Given the description of an element on the screen output the (x, y) to click on. 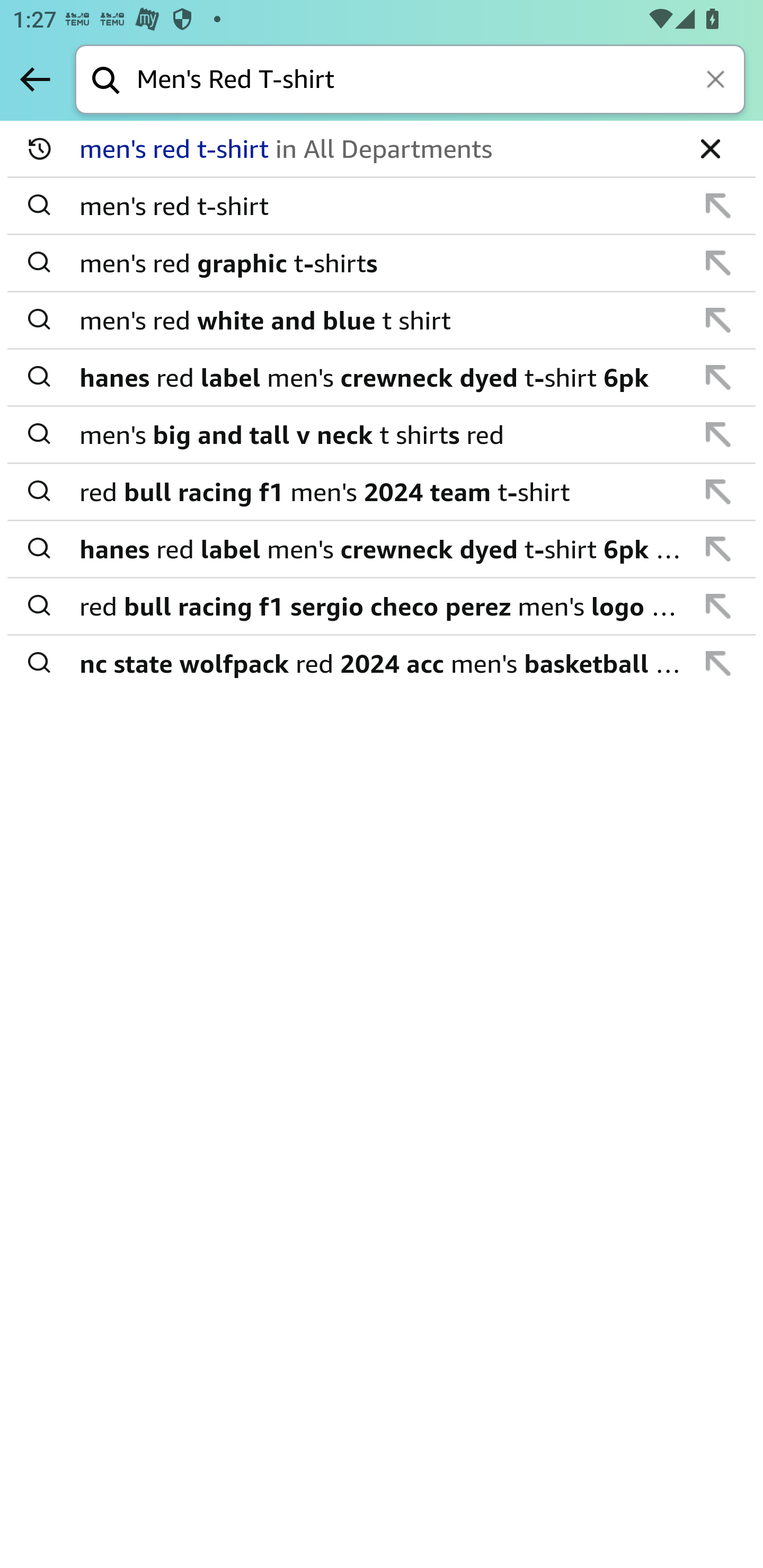
Men's Red T-shirt (440, 80)
Clear search keywords (717, 80)
Back (35, 78)
men's red t-shirt delete (381, 149)
men's red t-shirt (374, 149)
delete (710, 147)
men's red t-shirt (382, 205)
append suggestion men's red t-shirt (381, 206)
append suggestion (718, 205)
men's red graphic t-shirts (382, 262)
append suggestion men's red graphic t-shirts (381, 263)
append suggestion (718, 262)
men's red white and blue t shirt (382, 319)
append suggestion men's red white and blue t shirt (381, 320)
append suggestion (718, 319)
hanes red label men's crewneck dyed t-shirt 6pk (382, 377)
append suggestion (718, 376)
men's big and tall v neck t shirts red (382, 434)
append suggestion (718, 434)
red bull racing f1 men's 2024 team t-shirt (382, 491)
append suggestion (718, 491)
append suggestion (718, 548)
append suggestion (718, 605)
append suggestion (718, 663)
